Given the description of an element on the screen output the (x, y) to click on. 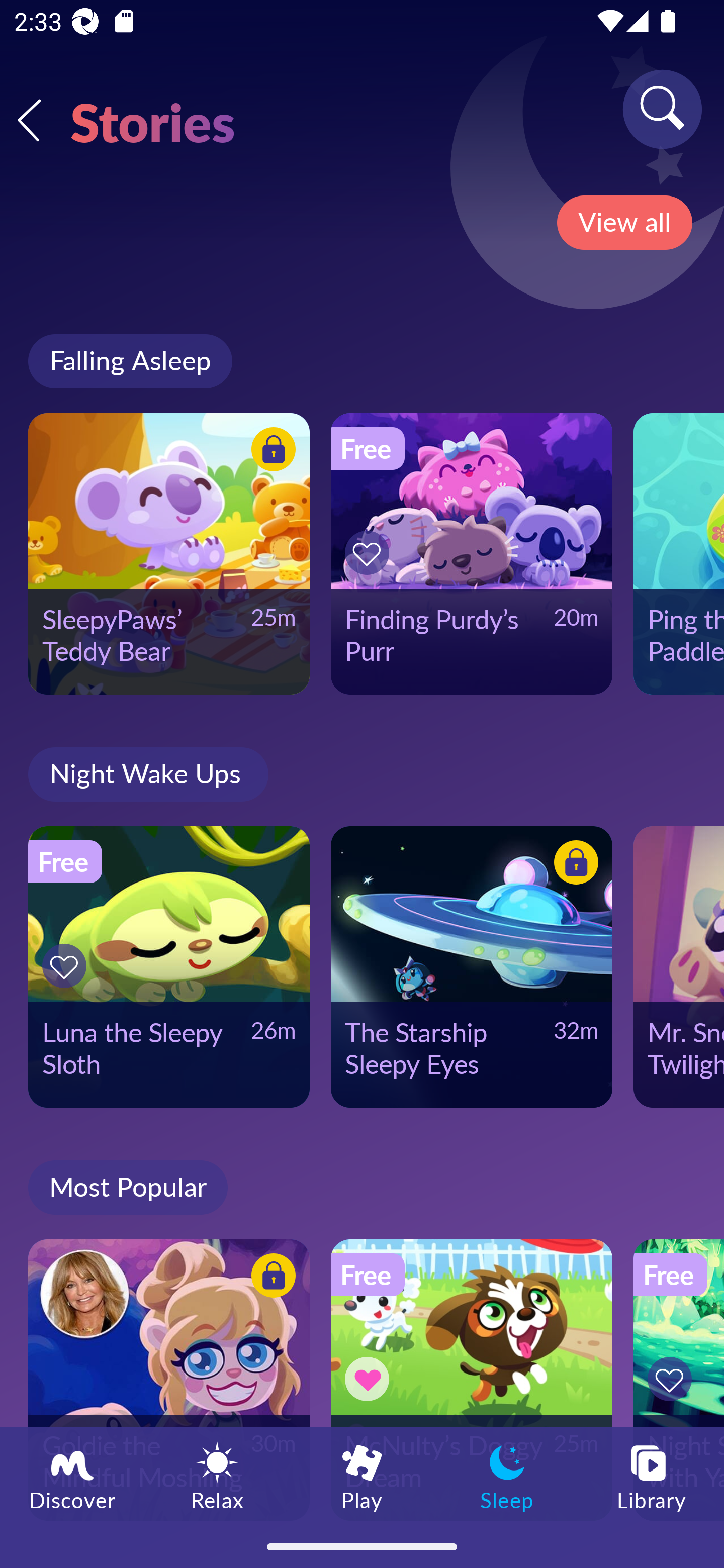
View all (624, 222)
Button (269, 451)
Button (369, 552)
Button (573, 865)
Button (67, 965)
Button (269, 1277)
Button (369, 1378)
Button (672, 1378)
Discover (72, 1475)
Relax (216, 1475)
Play (361, 1475)
Library (651, 1475)
